Given the description of an element on the screen output the (x, y) to click on. 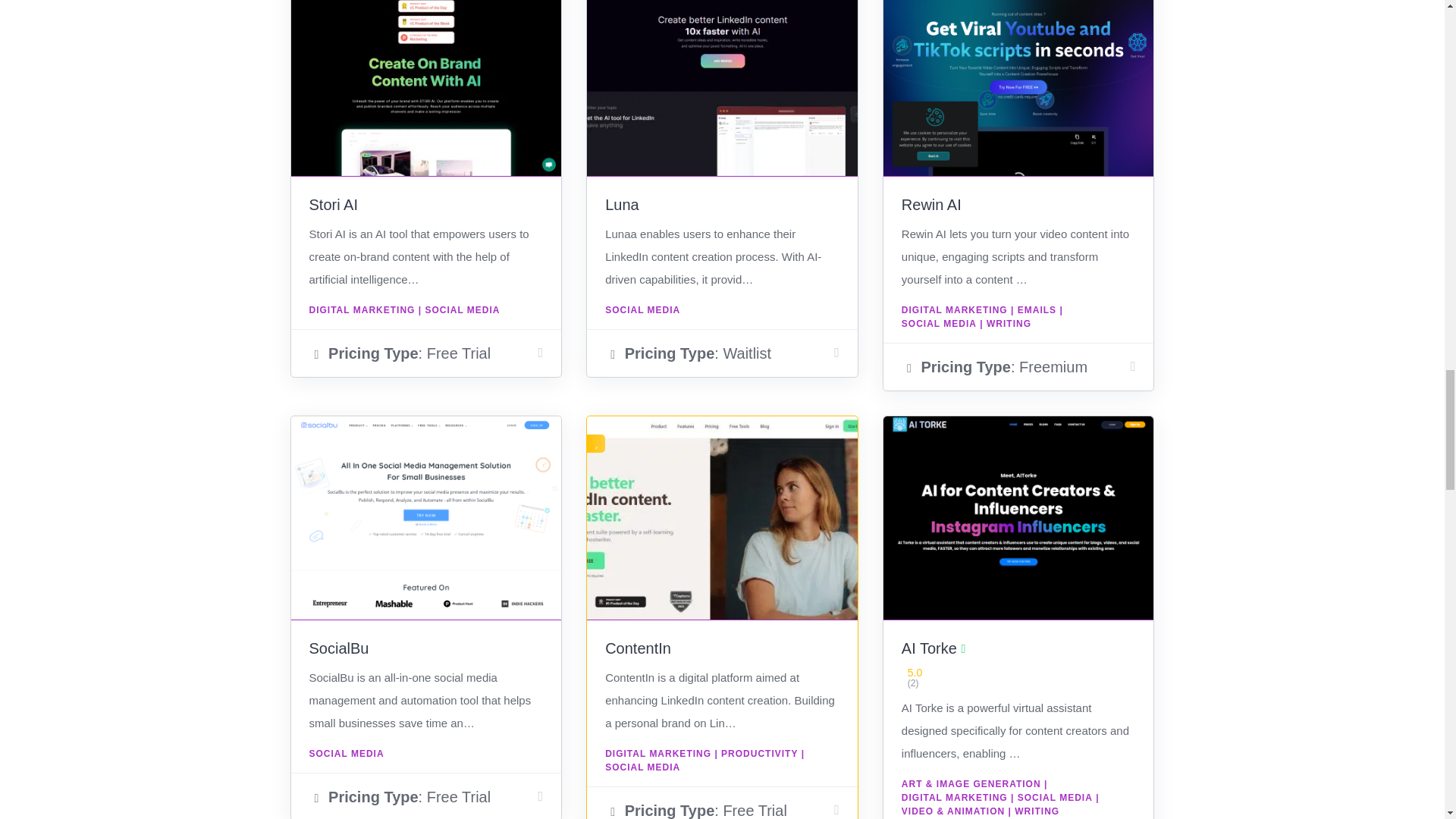
Featured (595, 443)
